Given the description of an element on the screen output the (x, y) to click on. 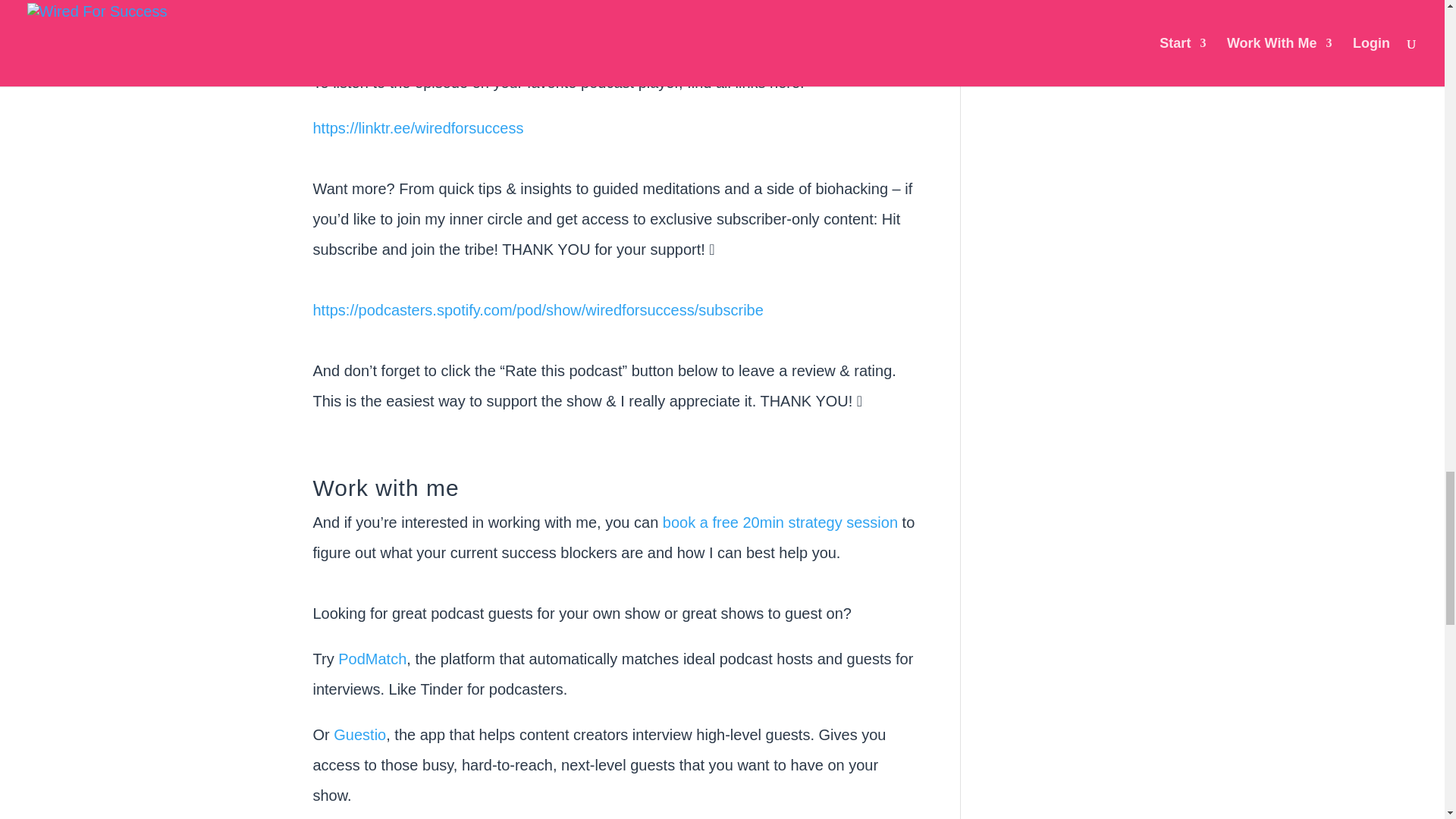
Guestio (359, 734)
PodMatch (371, 658)
Work with me (385, 487)
Embed Player (614, 13)
book a free 20min strategy session  (782, 522)
